Given the description of an element on the screen output the (x, y) to click on. 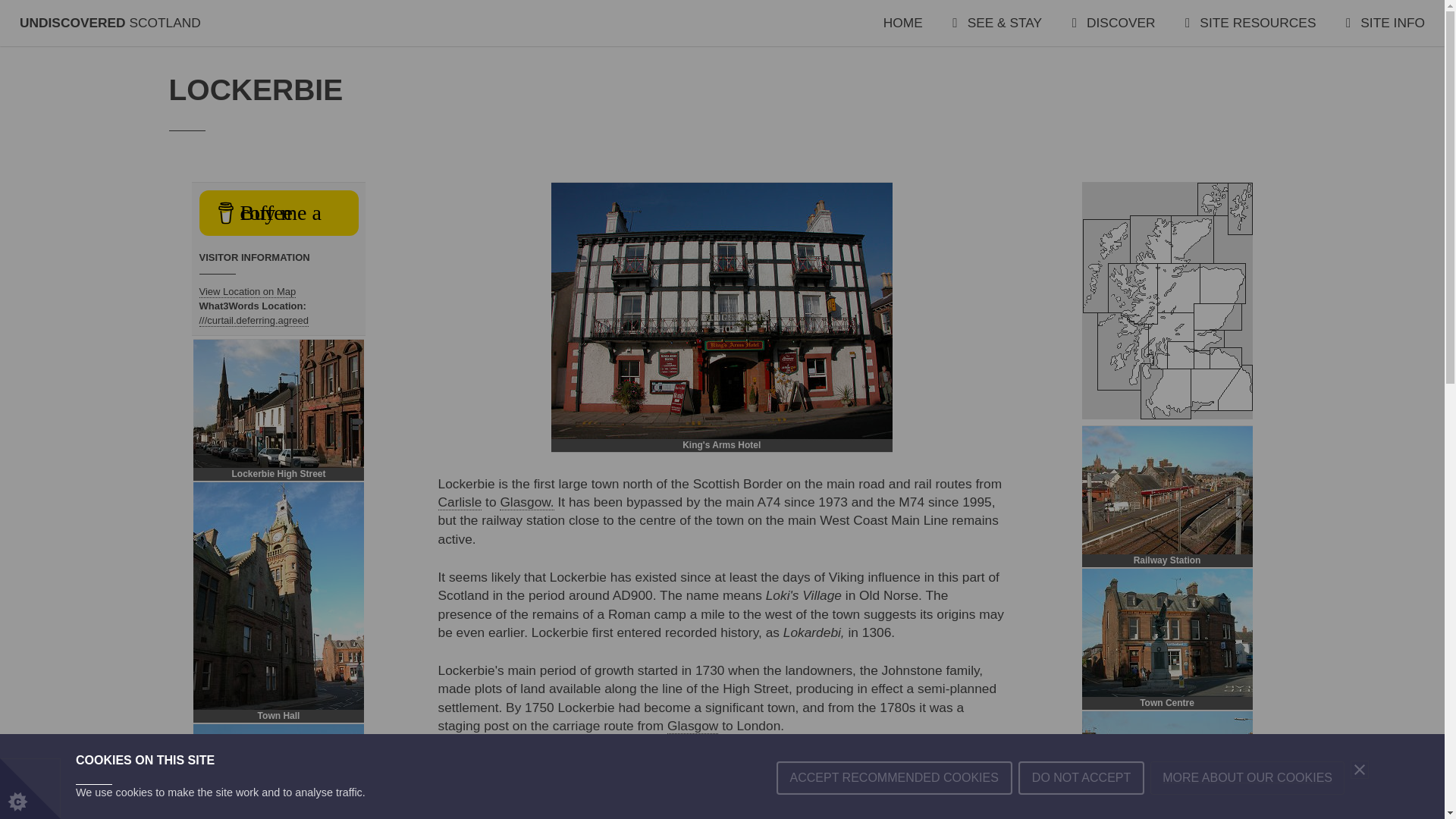
DISCOVER (1113, 22)
SITE RESOURCES (1250, 22)
MORE ABOUT OUR COOKIES (1246, 807)
UNDISCOVERED SCOTLAND (110, 22)
DO NOT ACCEPT (1080, 815)
HOME (903, 22)
